Given the description of an element on the screen output the (x, y) to click on. 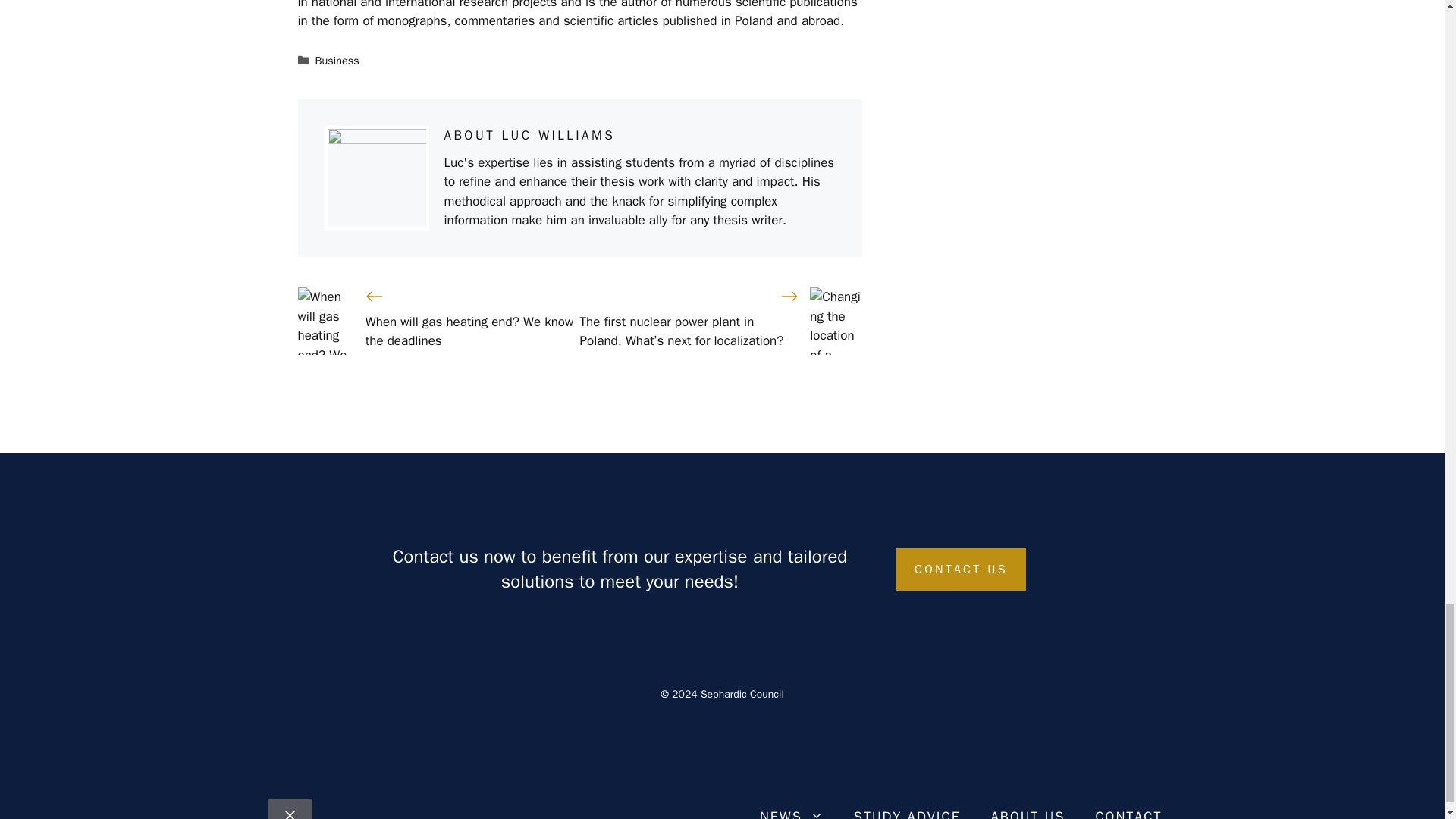
Business (337, 60)
CONTACT US (961, 568)
When will gas heating end? We know the deadlines (469, 331)
Close (288, 808)
